Given the description of an element on the screen output the (x, y) to click on. 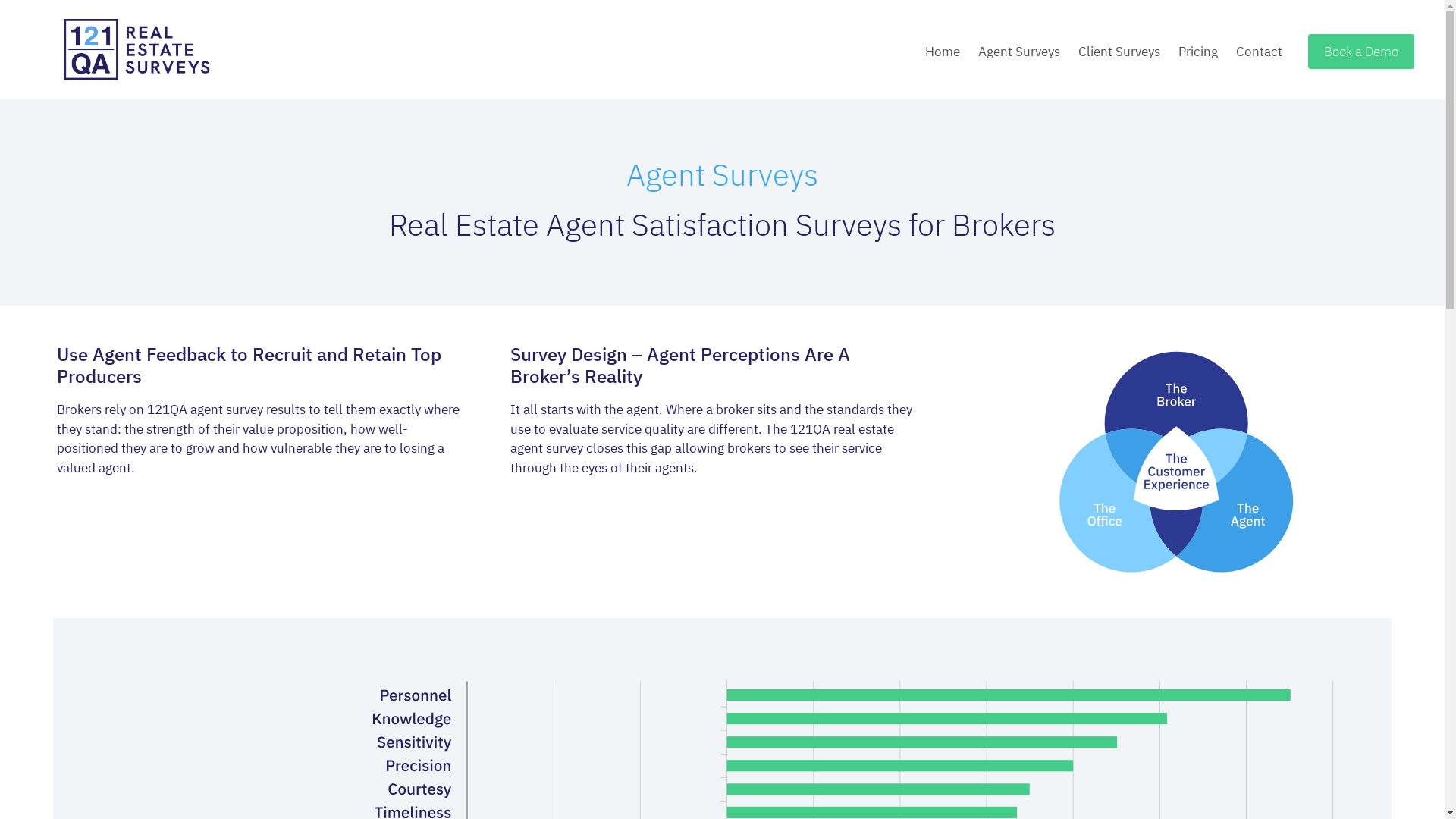
Client Surveys Element type: text (1119, 51)
Book a Demo Element type: text (1361, 51)
Pricing Element type: text (1197, 51)
Agent Surveys Element type: text (1019, 51)
Home Element type: text (942, 51)
Contact Element type: text (1259, 51)
